Given the description of an element on the screen output the (x, y) to click on. 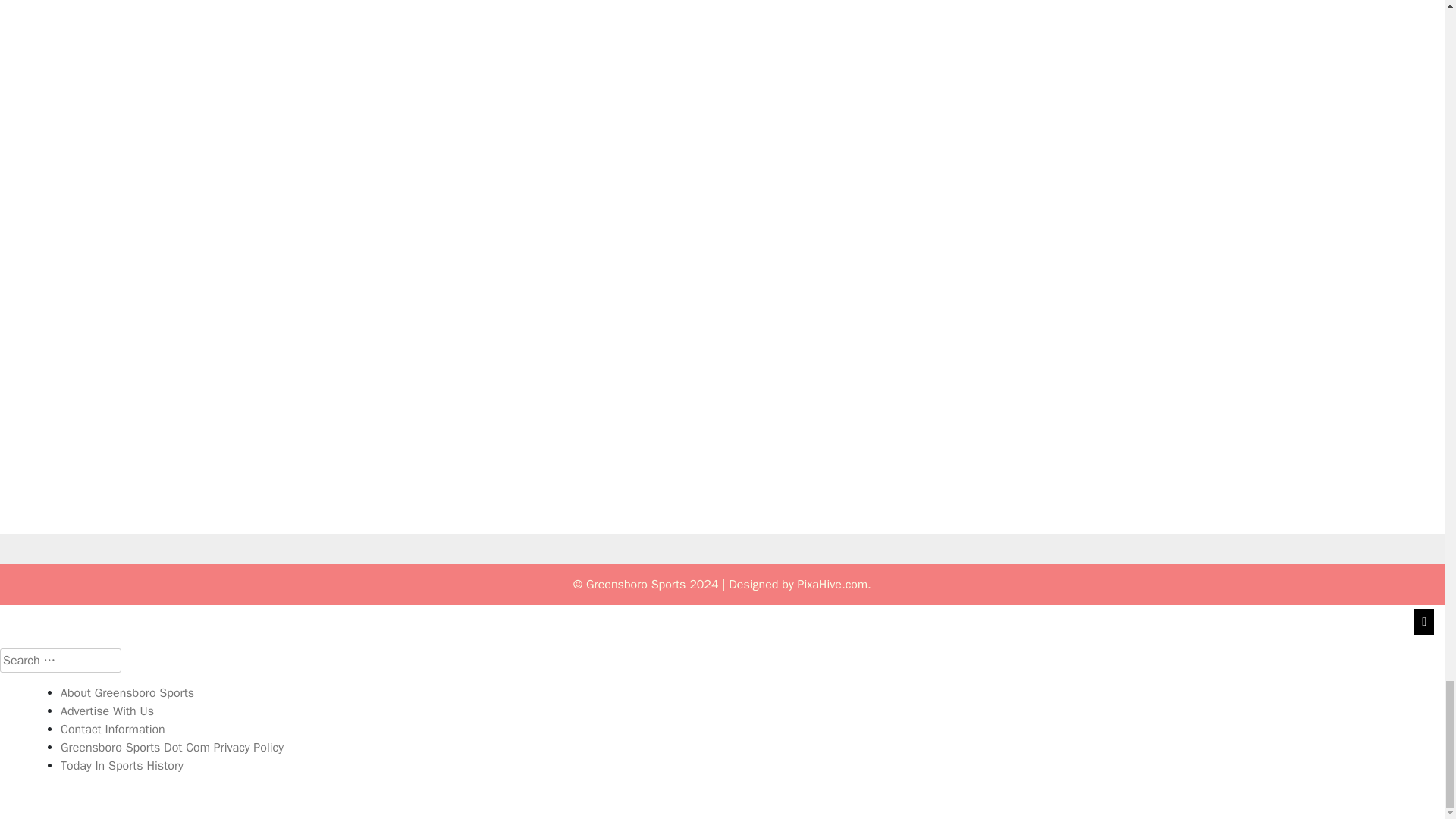
Today In Sports History (122, 765)
PixaHive.com (831, 584)
Advertise With Us (107, 711)
About Greensboro Sports (127, 693)
Greensboro Sports Dot Com Privacy Policy (172, 747)
Contact Information (113, 729)
